Given the description of an element on the screen output the (x, y) to click on. 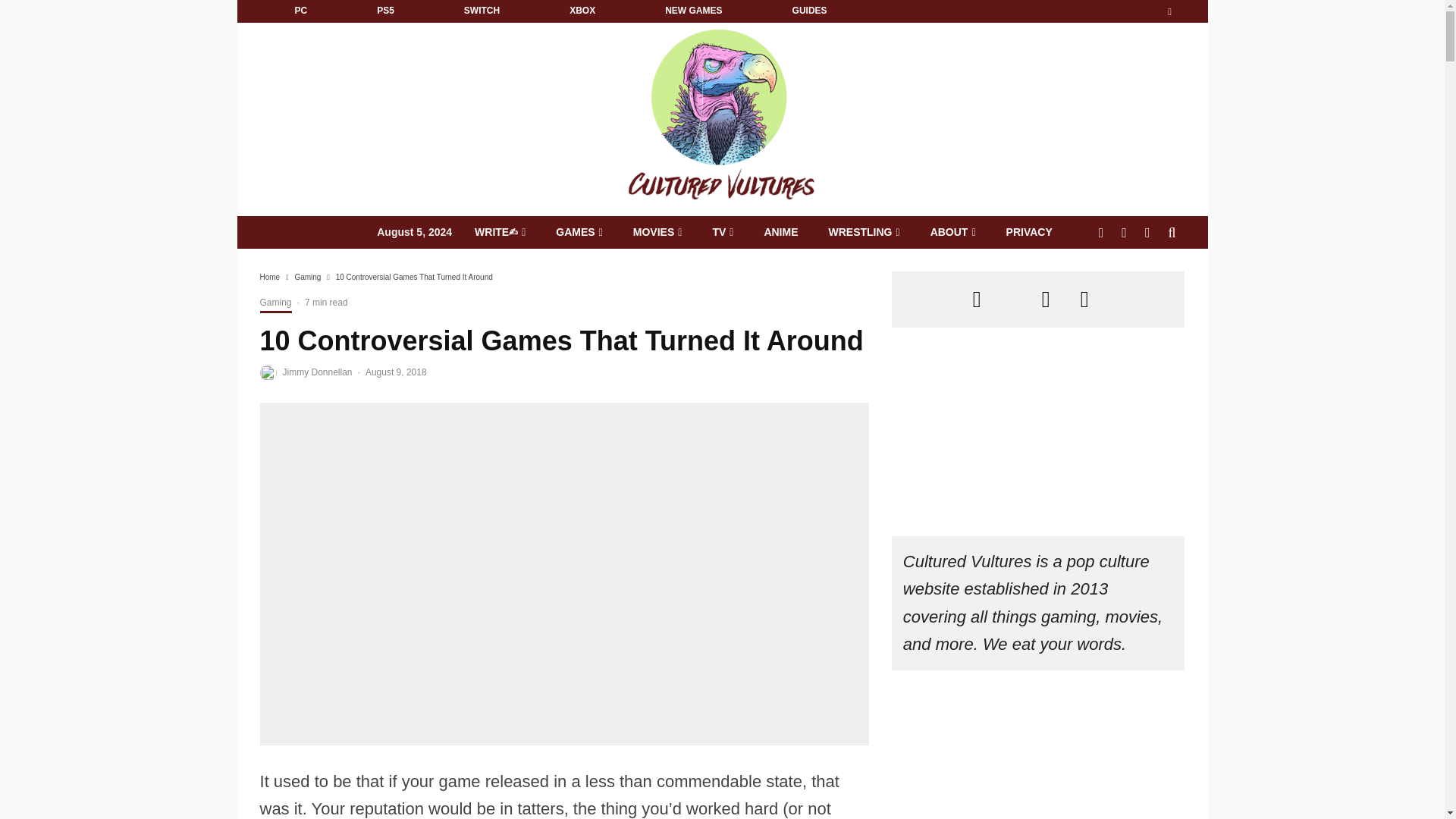
New Games Coming Out (693, 11)
XBOX (582, 11)
GAMES (578, 232)
Video Game Guides (809, 11)
PS5 News (385, 11)
NEW GAMES (693, 11)
SWITCH (481, 11)
Switch News (481, 11)
GUIDES (809, 11)
PC (300, 11)
PS5 (385, 11)
